Given the description of an element on the screen output the (x, y) to click on. 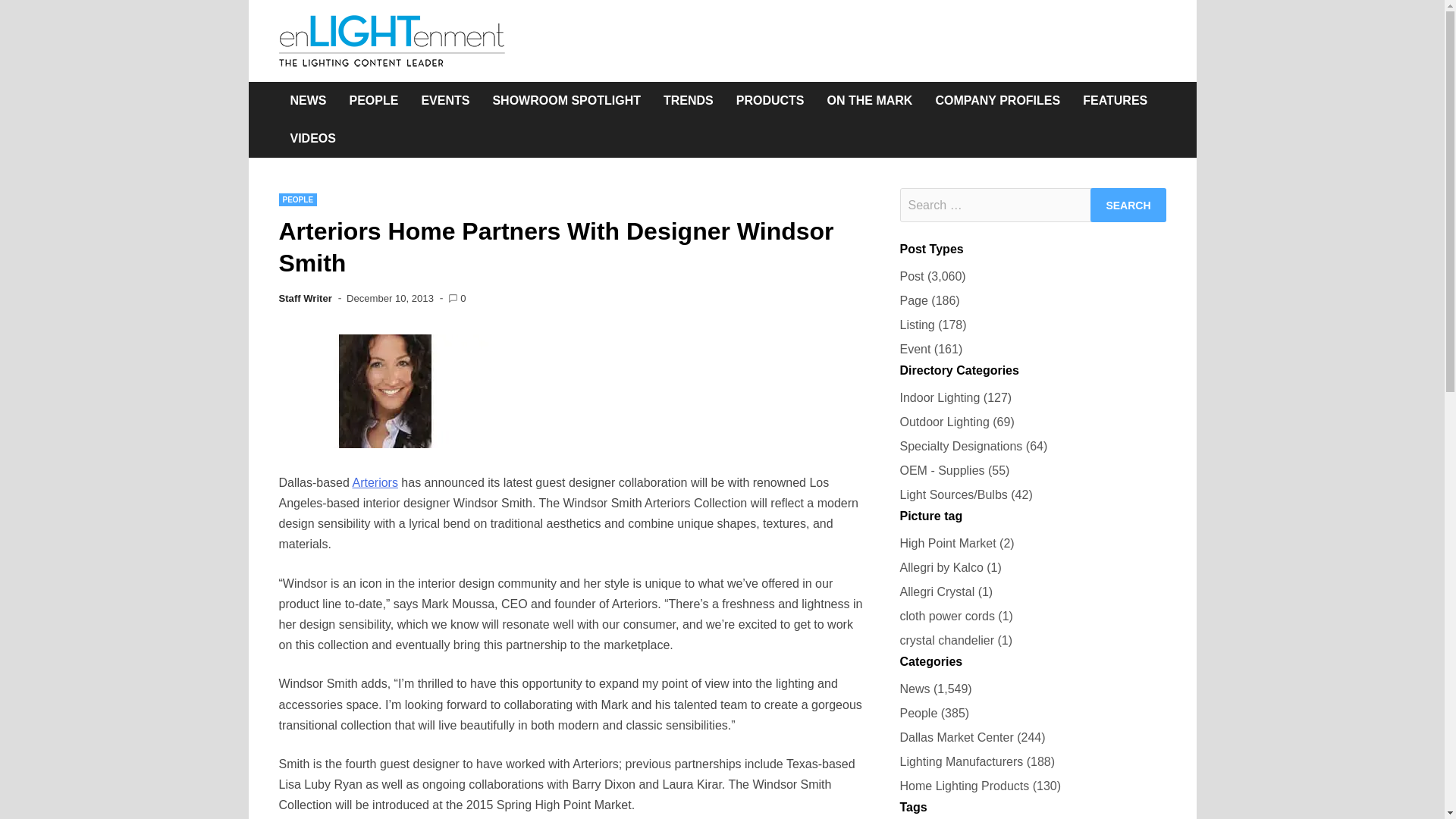
COMPANY PROFILES (997, 100)
Search (1128, 204)
PRODUCTS (770, 100)
TRENDS (688, 100)
Staff Writer (305, 297)
FEATURES (1114, 100)
PEOPLE (298, 199)
PEOPLE (373, 100)
SHOWROOM SPOTLIGHT (566, 100)
The Windsor Smith Arteriors Collection (374, 481)
